Given the description of an element on the screen output the (x, y) to click on. 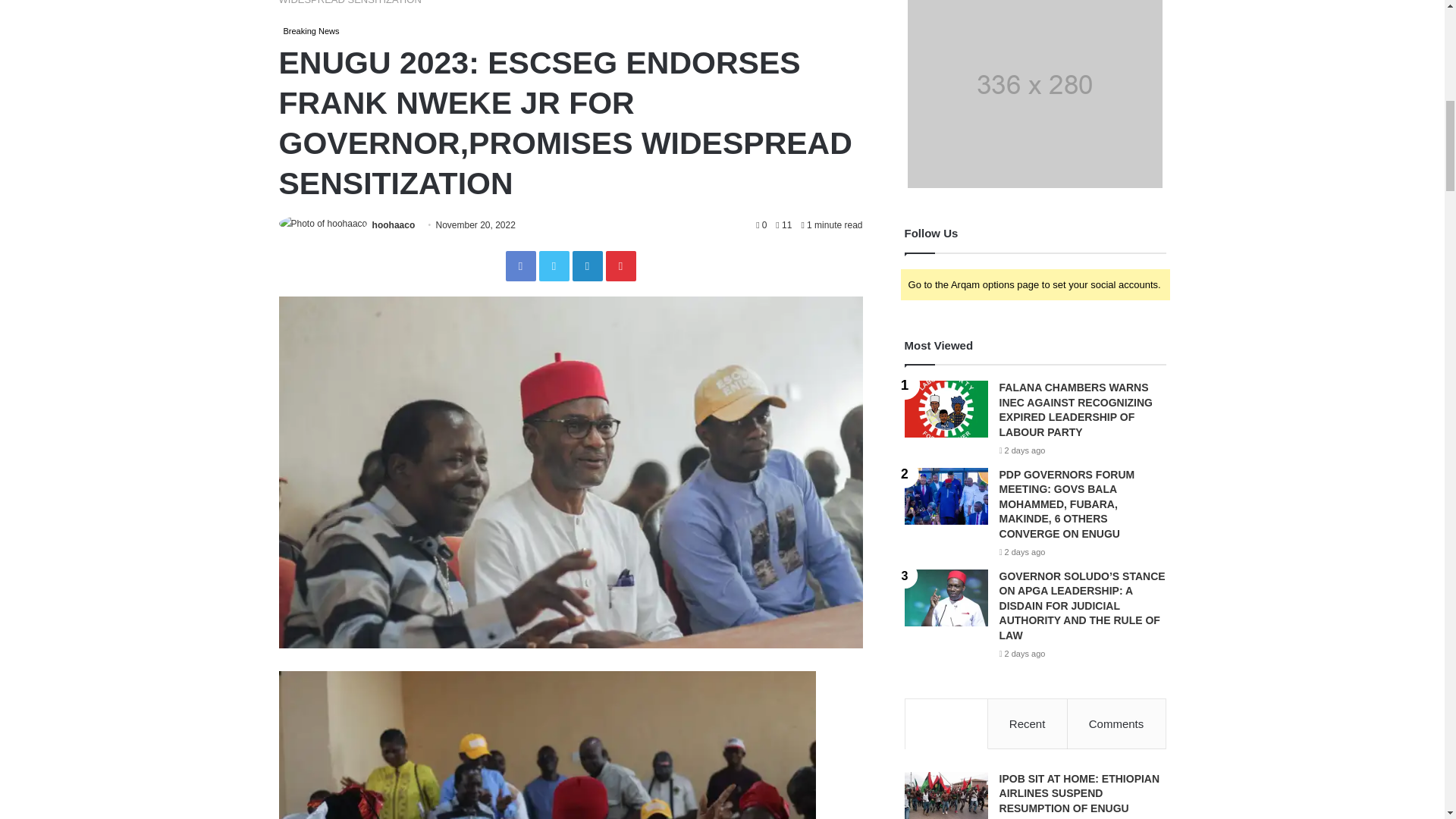
hoohaaco (393, 225)
Pinterest (619, 265)
Twitter (553, 265)
hoohaaco (393, 225)
Breaking News (311, 30)
LinkedIn (587, 265)
Facebook (520, 265)
